Given the description of an element on the screen output the (x, y) to click on. 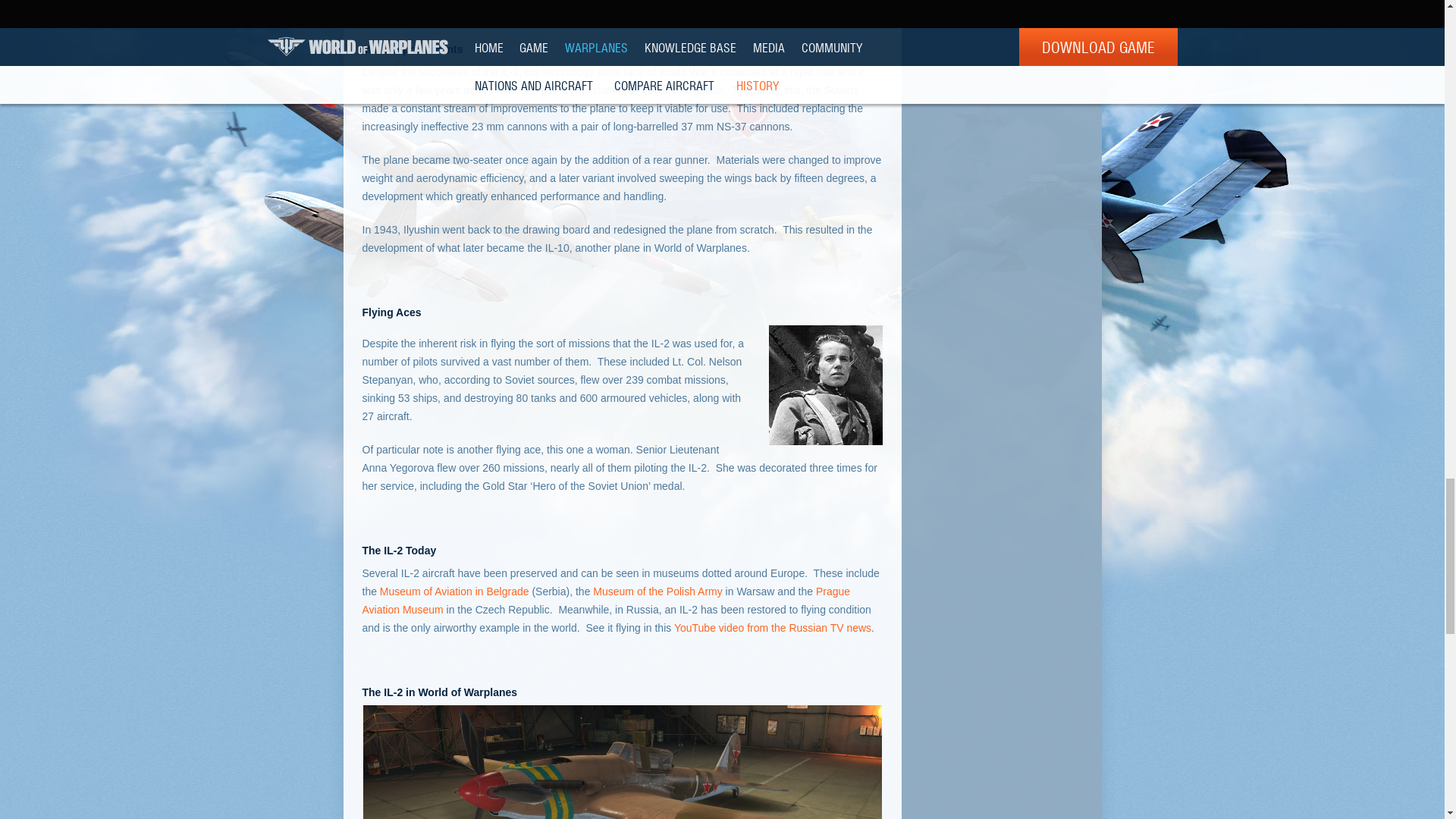
YouTube video from the Russian TV news (772, 627)
Museum of Aviation in Belgrade (454, 591)
Prague Aviation Museum (606, 600)
Museum of the Polish Army (657, 591)
